Given the description of an element on the screen output the (x, y) to click on. 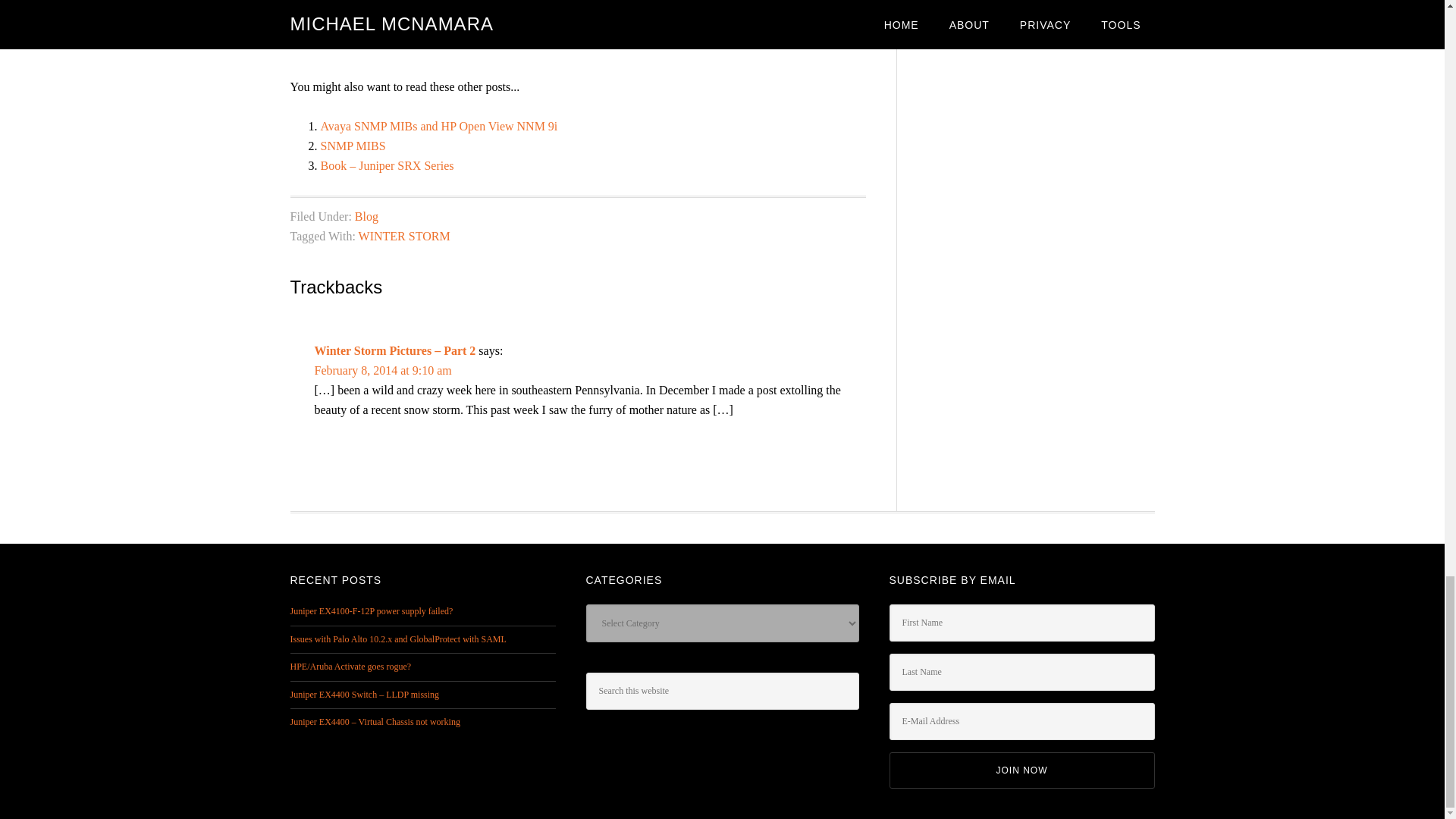
Avaya SNMP MIBs and HP Open View NNM 9i (438, 125)
Blog (366, 215)
Join Now (1021, 770)
Juniper EX4100-F-12P power supply failed? (370, 611)
SNMP MIBS (352, 145)
February 8, 2014 at 9:10 am (382, 369)
Avaya SNMP MIBs and HP Open View NNM 9i (438, 125)
Issues with Palo Alto 10.2.x and GlobalProtect with SAML (397, 638)
SNMP MIBS (352, 145)
WINTER STORM (403, 236)
